Given the description of an element on the screen output the (x, y) to click on. 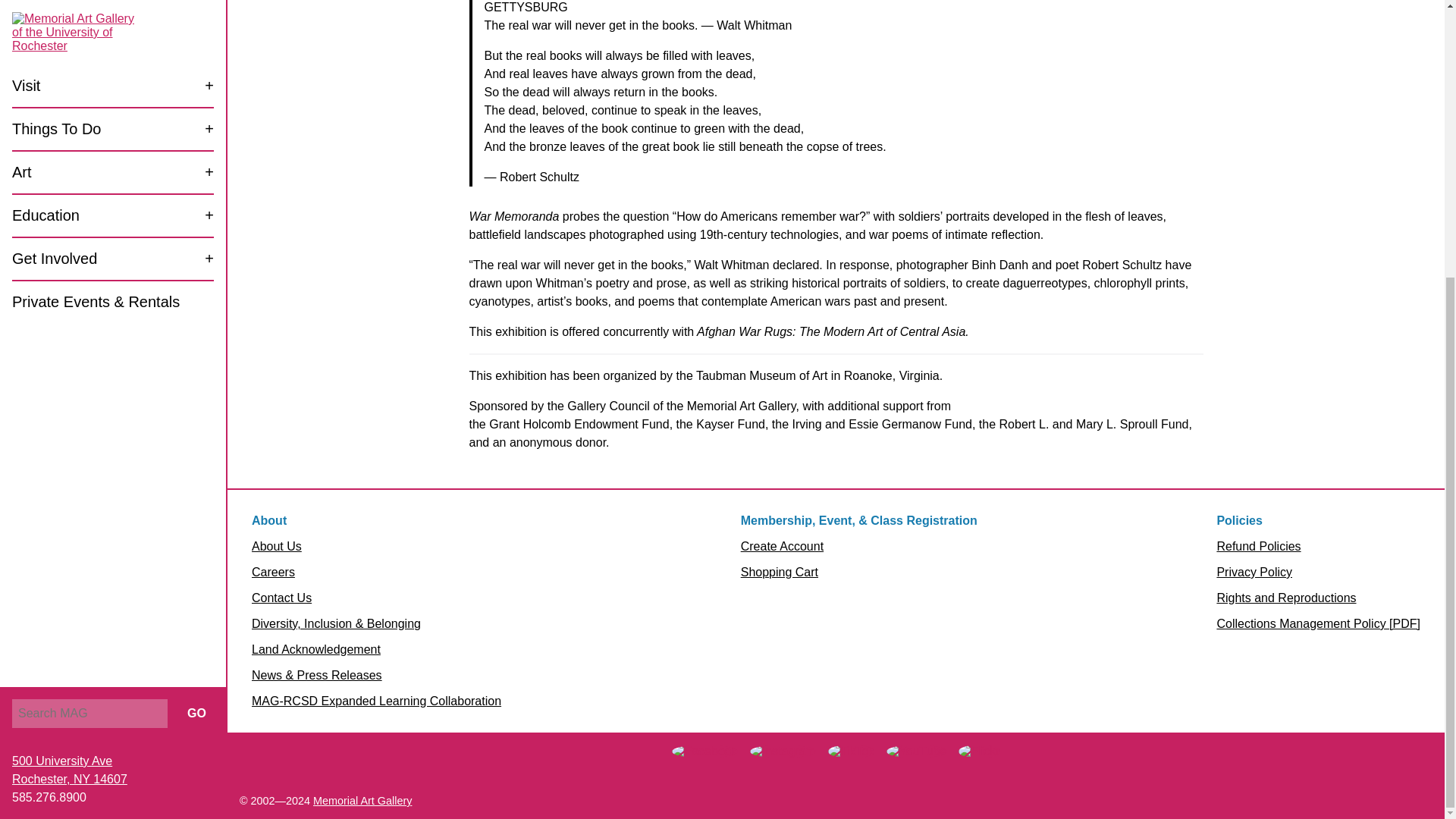
About (268, 520)
GO (69, 358)
